Given the description of an element on the screen output the (x, y) to click on. 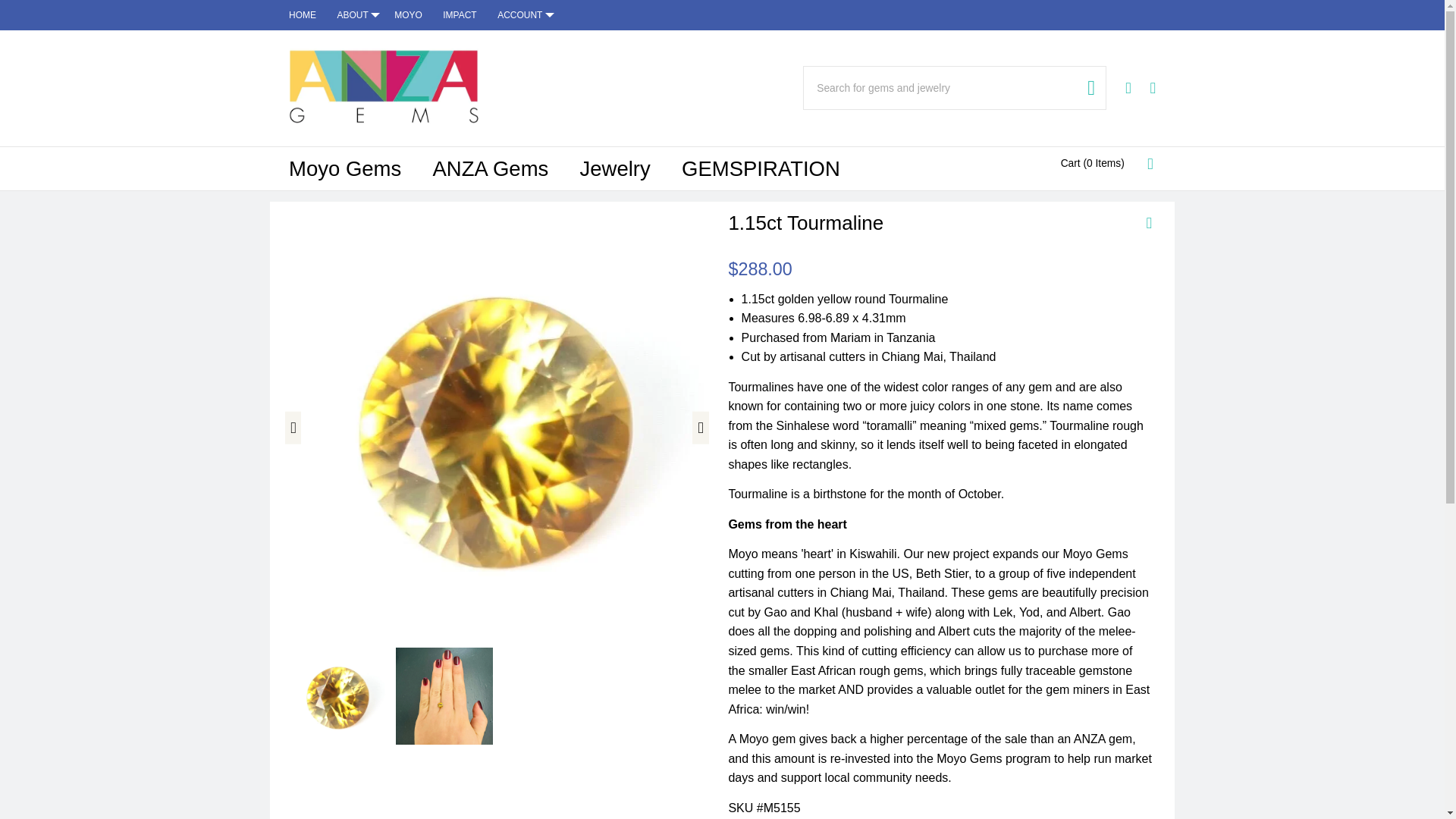
ACCOUNT (521, 15)
ABOUT (355, 15)
MOYO (408, 15)
IMPACT (459, 15)
HOME (307, 15)
